Given the description of an element on the screen output the (x, y) to click on. 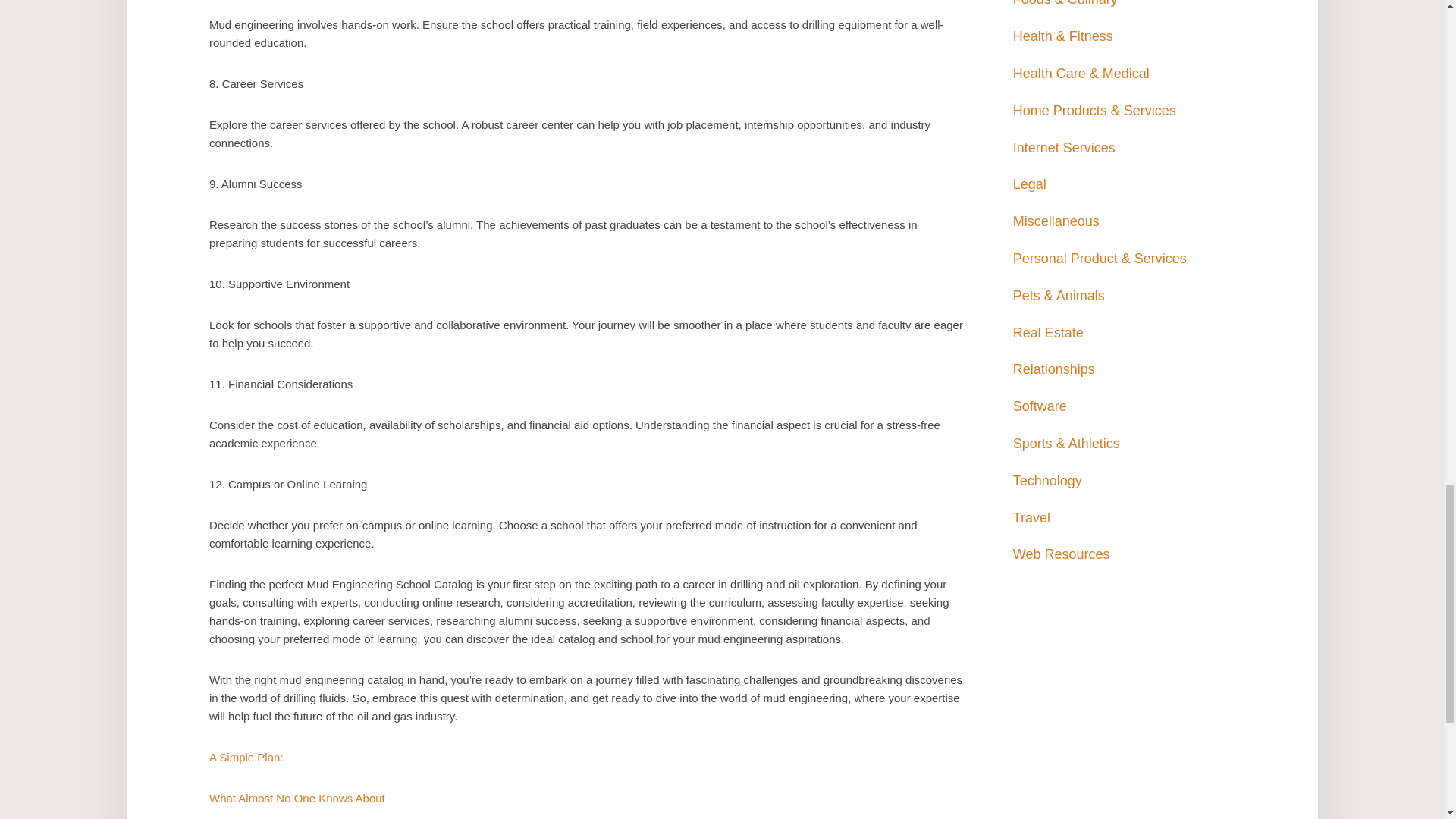
A Simple Plan: (246, 757)
What Almost No One Knows About (297, 797)
